Given the description of an element on the screen output the (x, y) to click on. 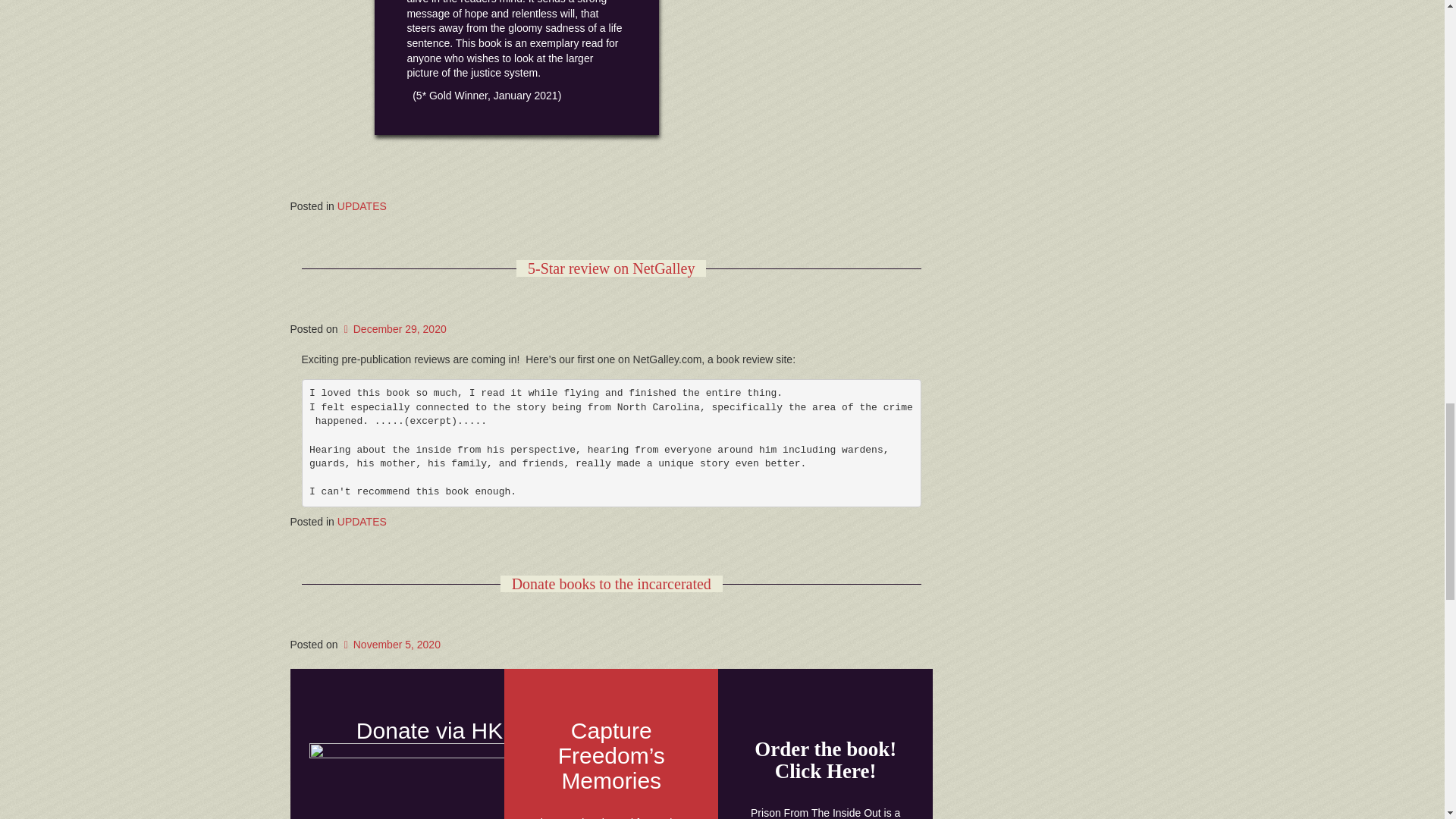
Donate books to the incarcerated (611, 583)
Donate via HKF (436, 730)
UPDATES (362, 521)
December 29, 2020 (392, 328)
UPDATES (362, 205)
5-Star review on NetGalley (611, 268)
November 5, 2020 (390, 644)
Order the book! Click Here! (825, 759)
